Given the description of an element on the screen output the (x, y) to click on. 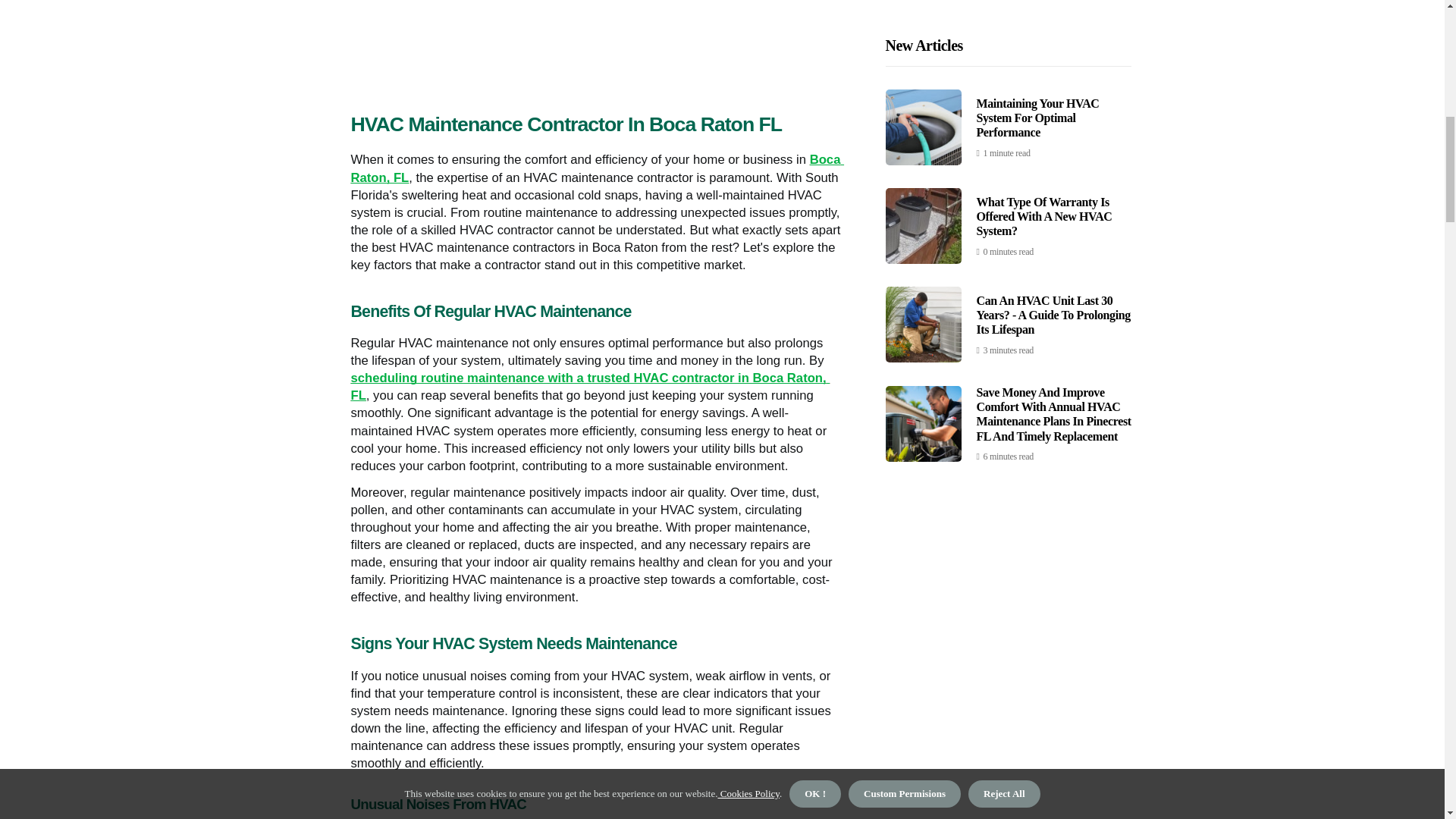
Boca Raton, FL (597, 168)
